Given the description of an element on the screen output the (x, y) to click on. 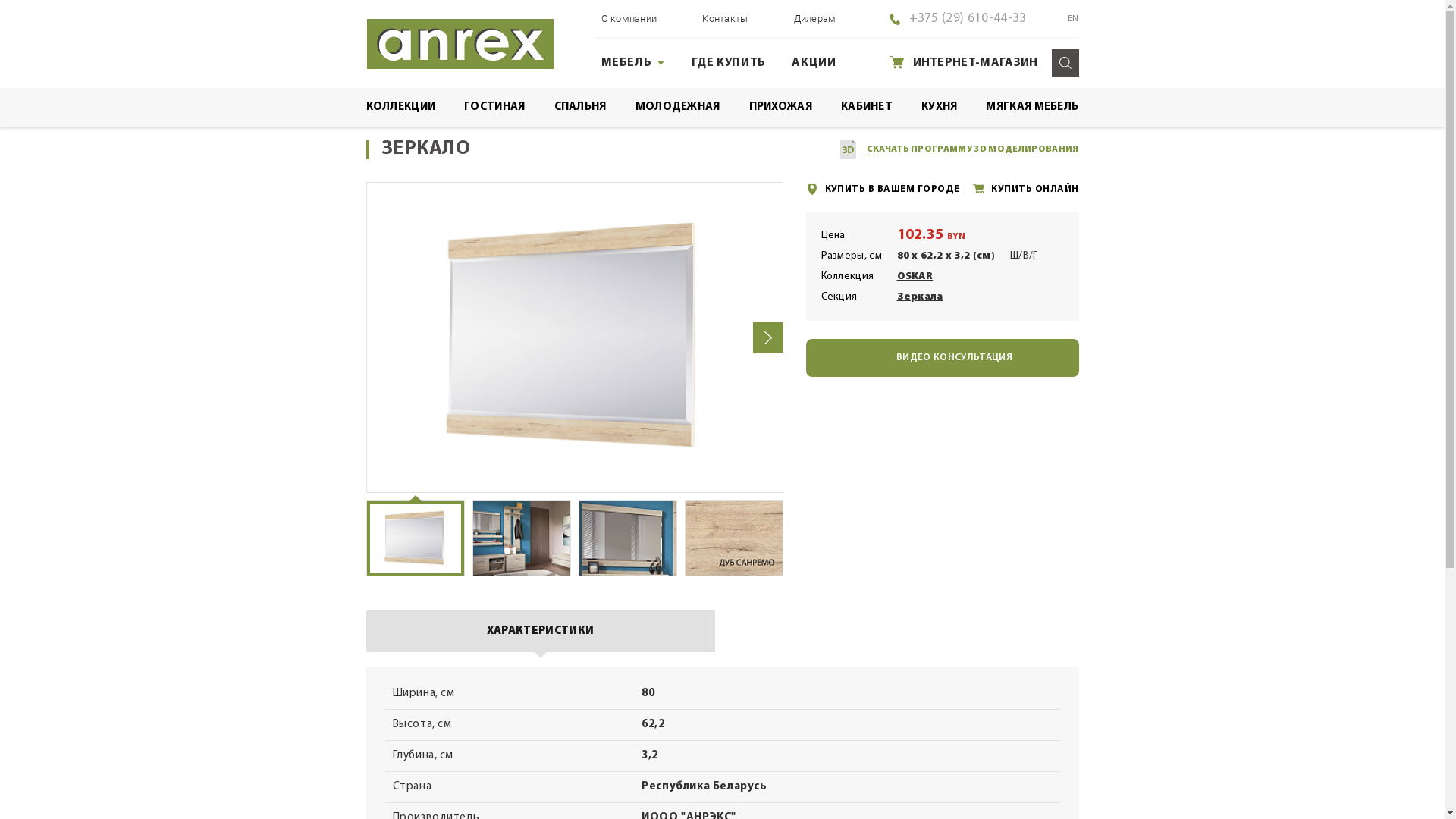
OSKAR Element type: text (657, 102)
+375 (29) 610-44-33 Element type: text (967, 18)
OSKAR Element type: text (914, 276)
EN Element type: text (1063, 18)
